Given the description of an element on the screen output the (x, y) to click on. 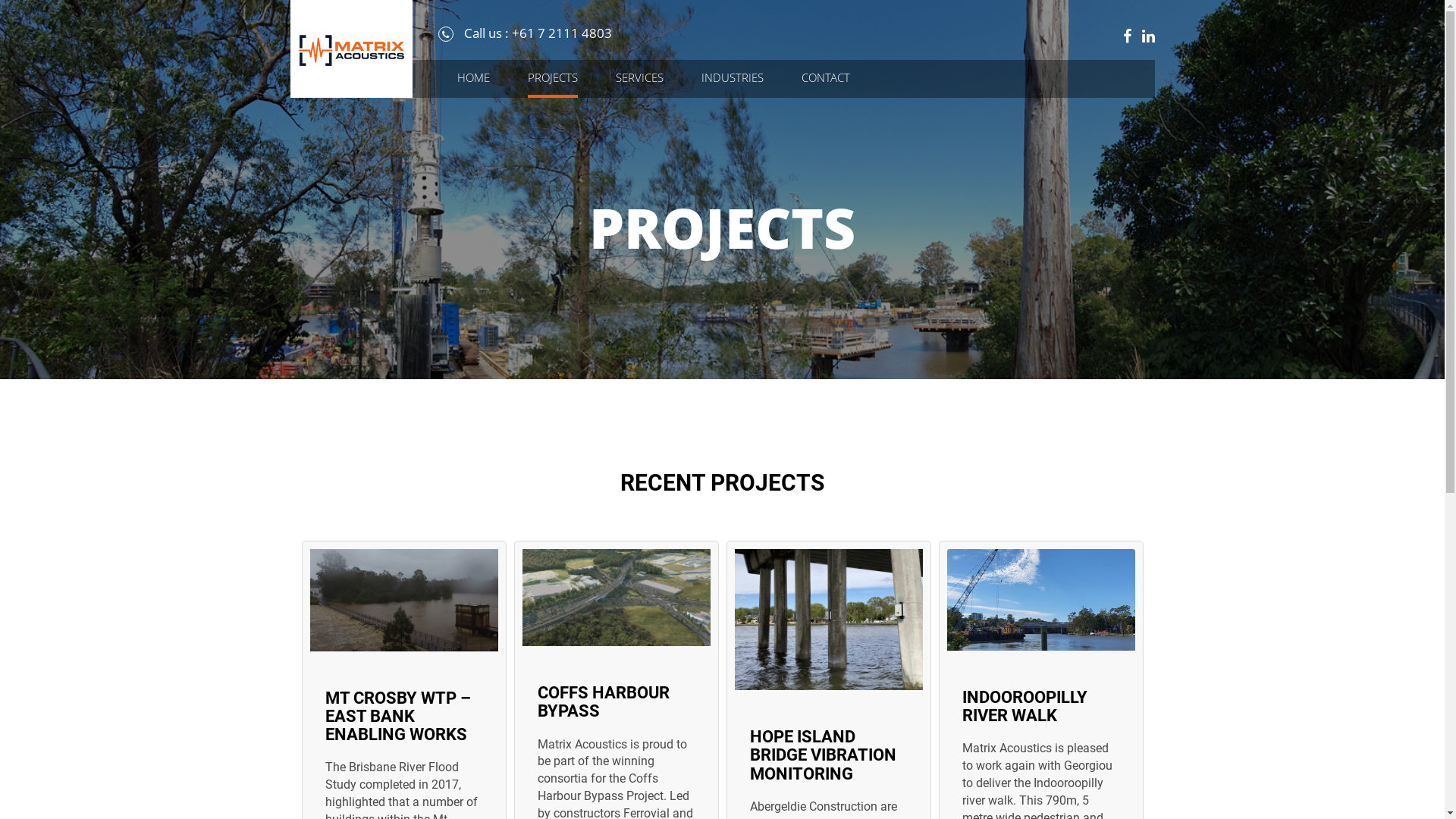
CONTACT Element type: text (824, 78)
Call us : +61 7 2111 4803 Element type: text (524, 32)
HOME Element type: text (472, 78)
INDUSTRIES Element type: text (731, 78)
SERVICES Element type: text (639, 78)
PROJECTS Element type: text (552, 78)
